Given the description of an element on the screen output the (x, y) to click on. 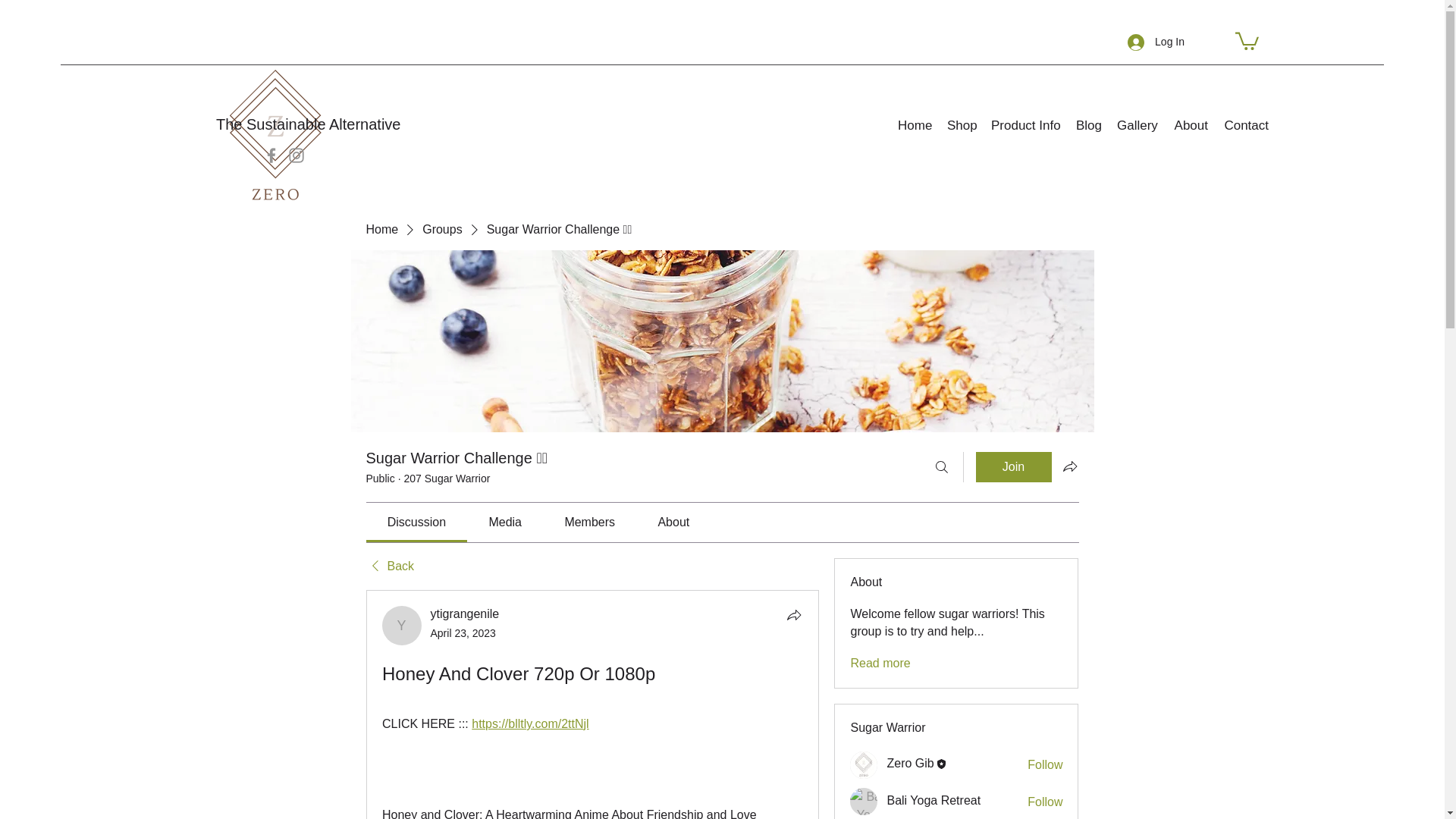
Join (1013, 467)
Home (381, 229)
Read more (880, 663)
ytigrangenile (401, 625)
About (1189, 125)
Zero Gib (909, 762)
April 23, 2023 (463, 633)
Home (914, 125)
Contact (1245, 125)
Back (389, 565)
Zero Gib (863, 764)
Log In (1155, 41)
ytigrangenile (464, 613)
Bali Yoga Retreat (863, 800)
Gallery (1136, 125)
